Given the description of an element on the screen output the (x, y) to click on. 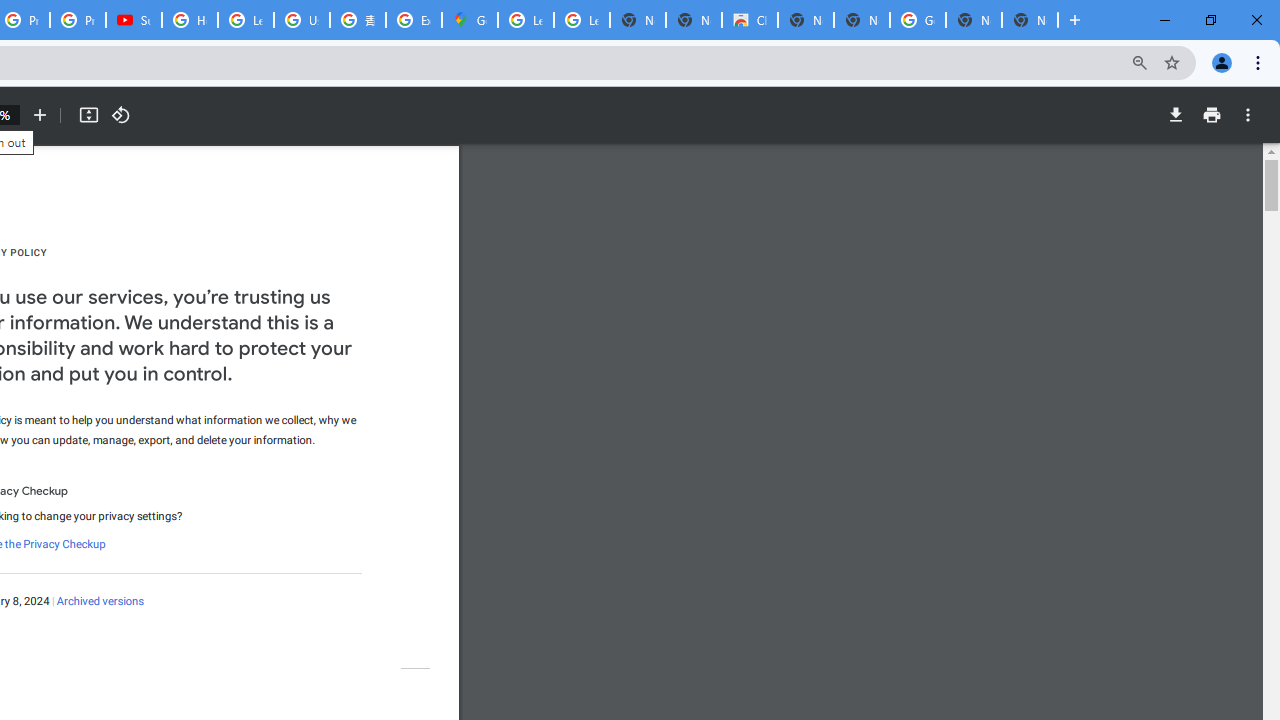
Fit to page (87, 115)
Download (1175, 115)
Zoom: 80% (1139, 62)
Archived versions (99, 601)
Google Maps (469, 20)
Zoom in (39, 115)
